Given the description of an element on the screen output the (x, y) to click on. 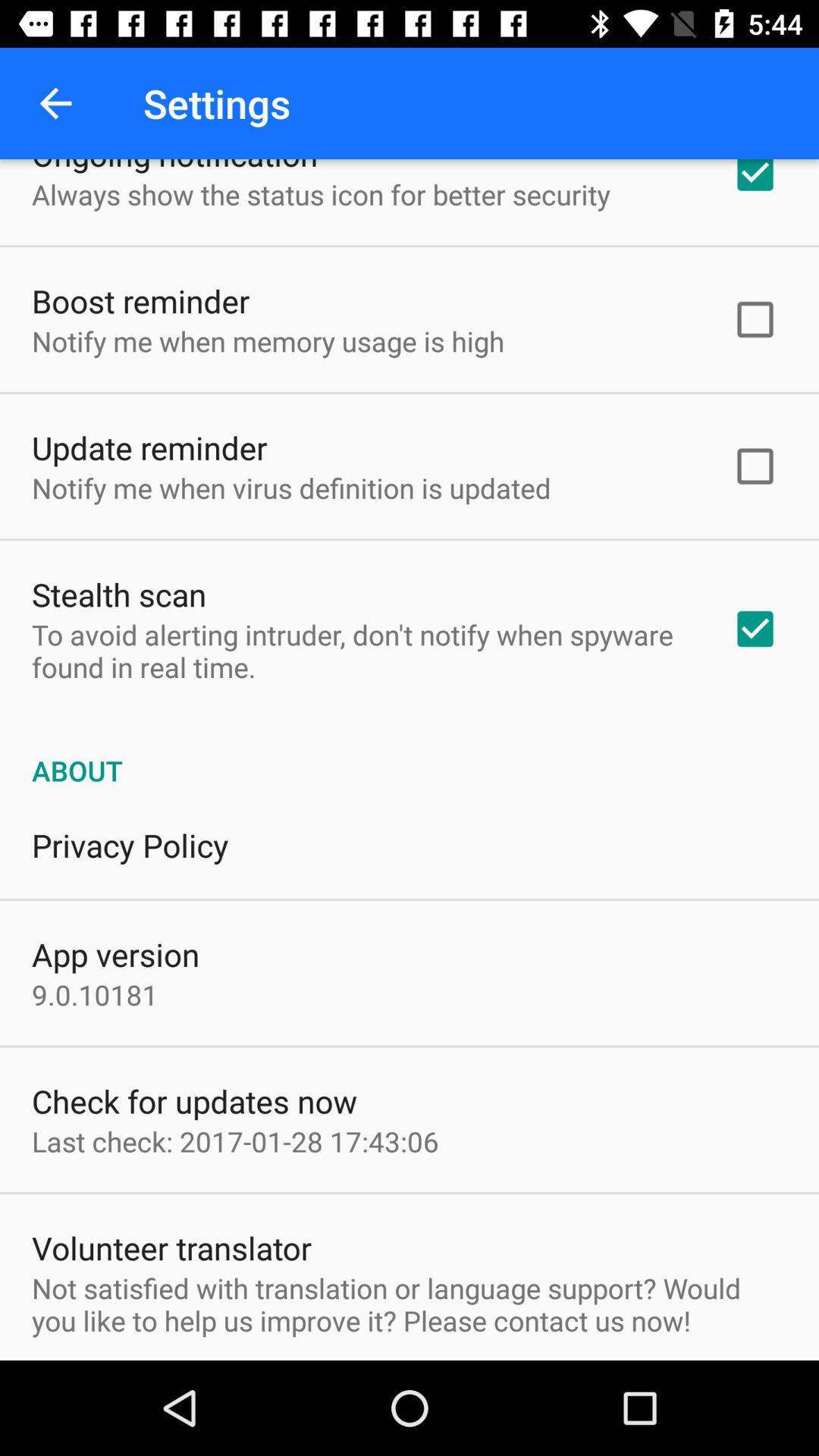
launch the icon below the notify me when item (149, 447)
